Given the description of an element on the screen output the (x, y) to click on. 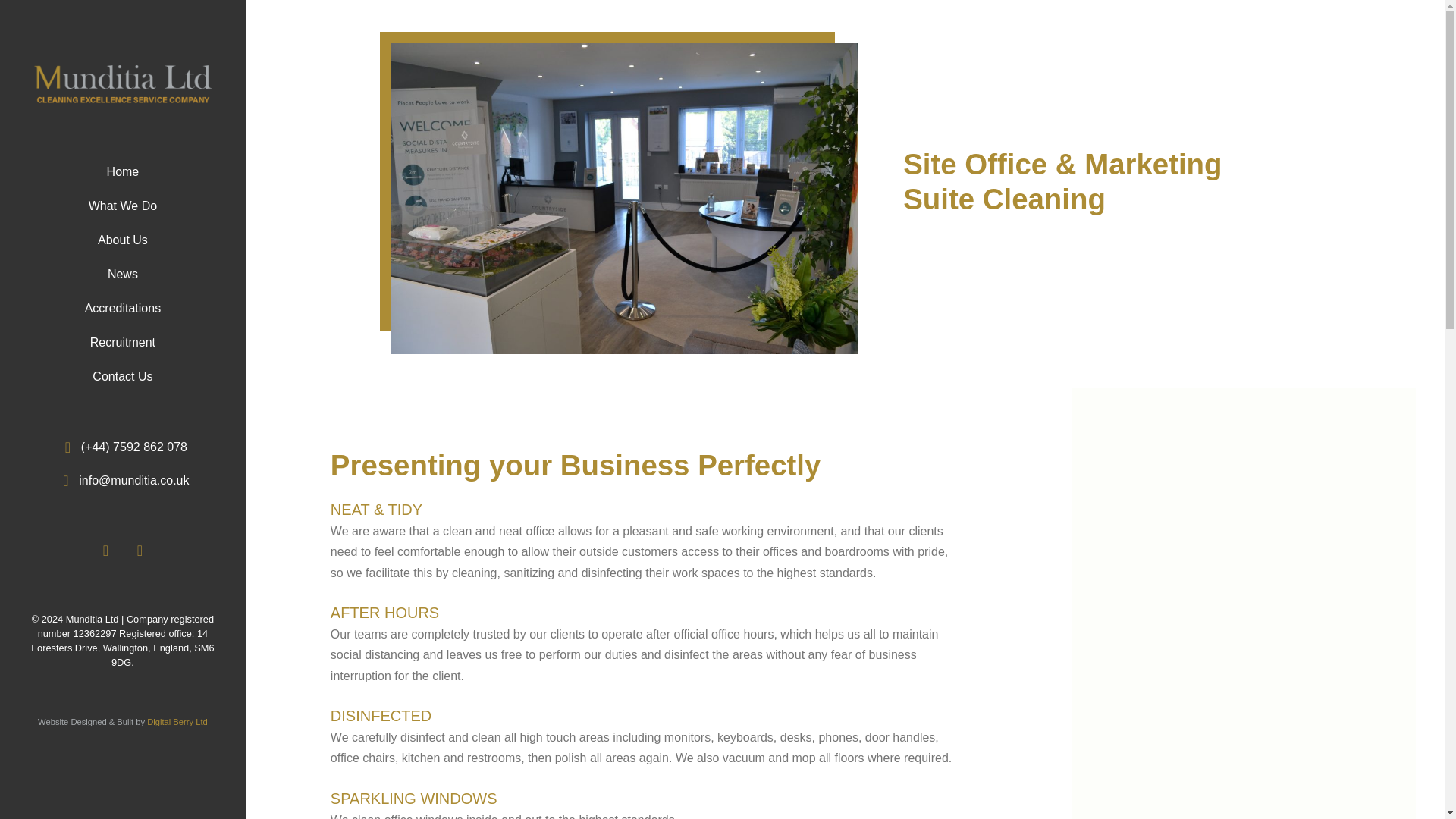
What We Do (122, 205)
Home (122, 172)
